Given the description of an element on the screen output the (x, y) to click on. 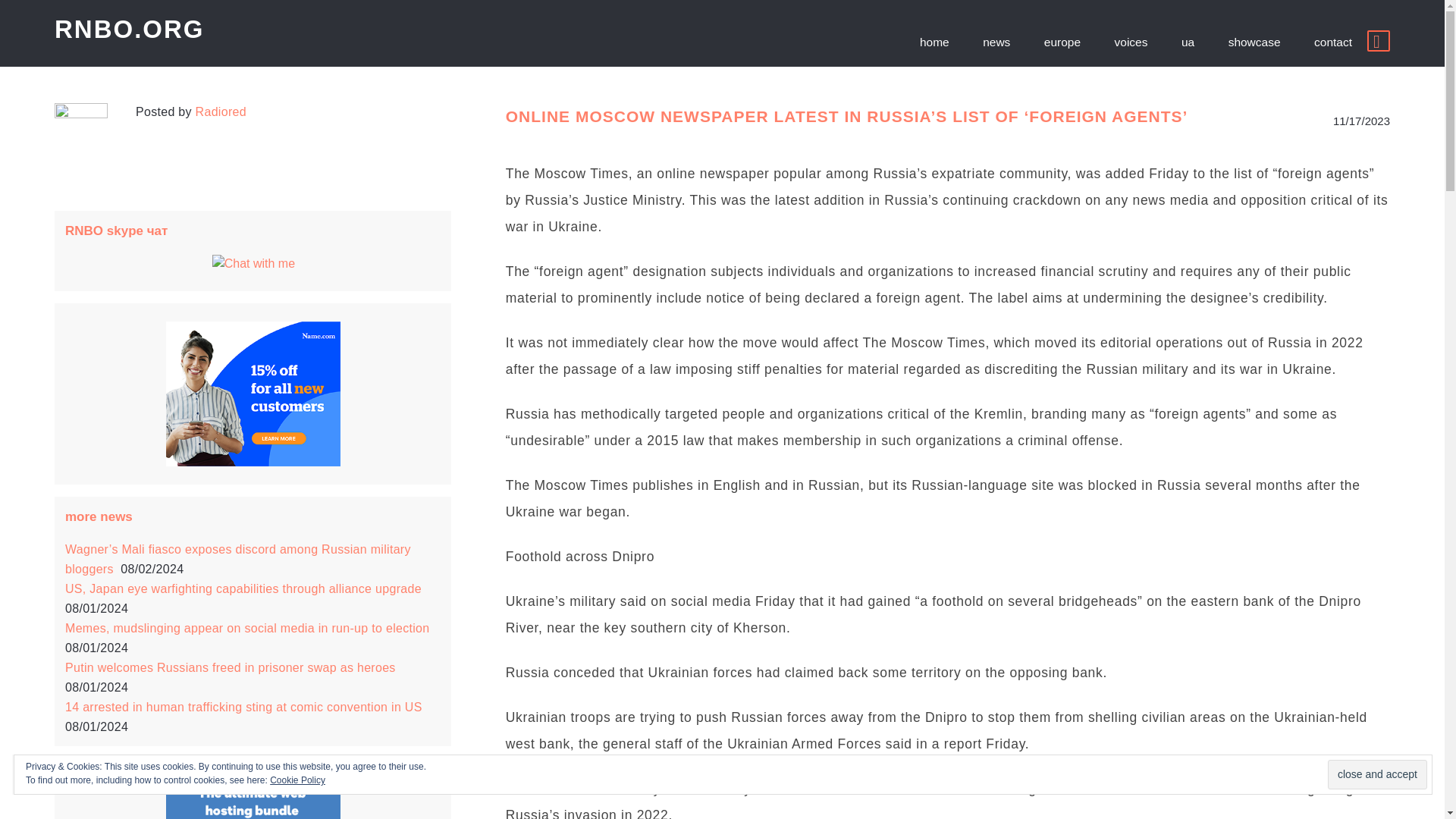
home (933, 42)
voices (1131, 42)
Posts by Radiored (220, 111)
RNBO.ORG (130, 29)
ua (1187, 42)
news (996, 42)
contact (1332, 42)
showcase (1253, 42)
europe (1062, 42)
Putin welcomes Russians freed in prisoner swap as heroes  (231, 667)
close and accept (1376, 774)
Radiored (220, 111)
